Given the description of an element on the screen output the (x, y) to click on. 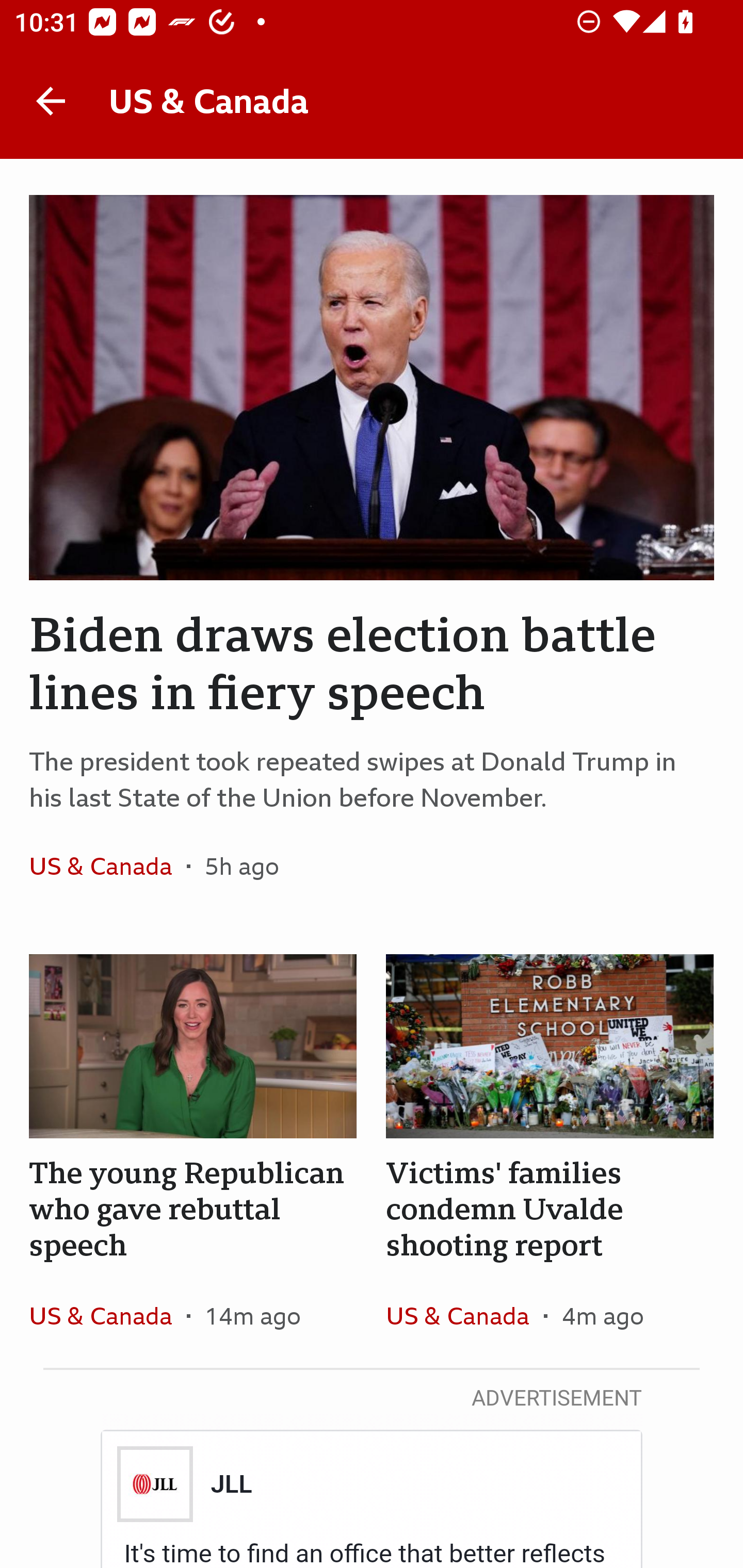
Back (50, 101)
US & Canada In the section US & Canada (107, 865)
US & Canada In the section US & Canada (107, 1315)
US & Canada In the section US & Canada (464, 1315)
JLL (230, 1483)
